Given the description of an element on the screen output the (x, y) to click on. 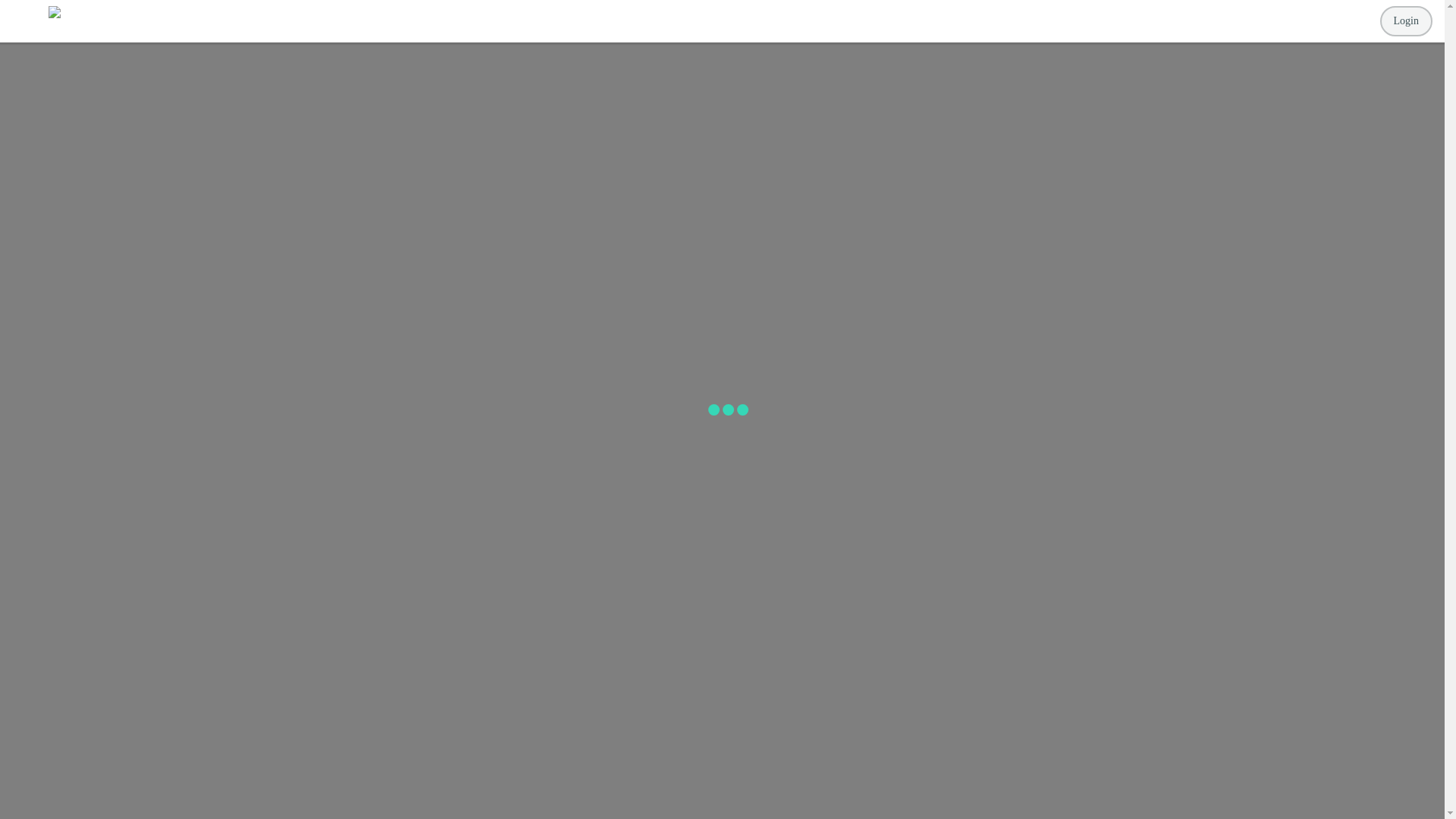
Login (1406, 20)
